Given the description of an element on the screen output the (x, y) to click on. 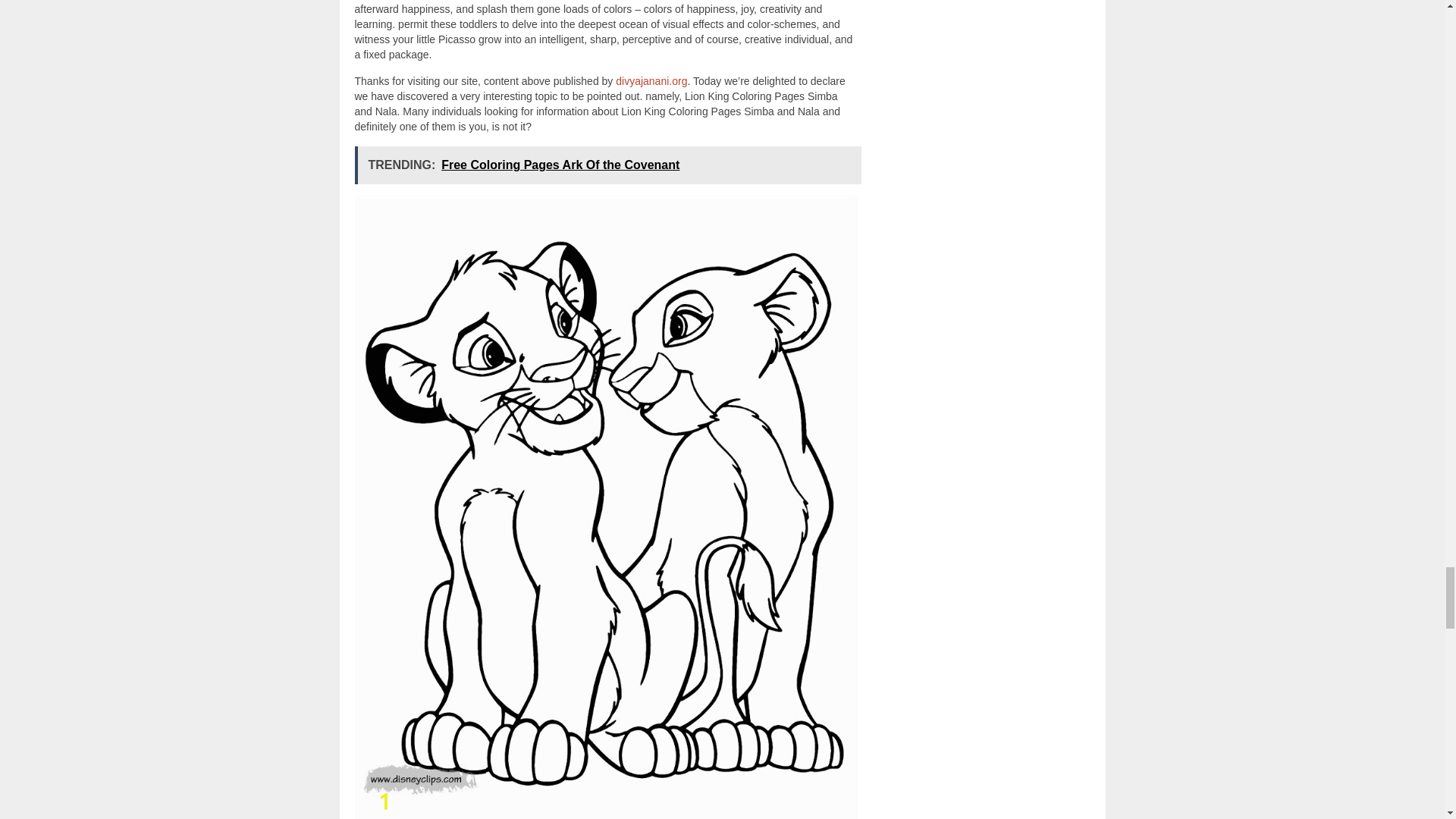
divyajanani.org (651, 80)
TRENDING:  Free Coloring Pages Ark Of the Covenant (608, 165)
